Given the description of an element on the screen output the (x, y) to click on. 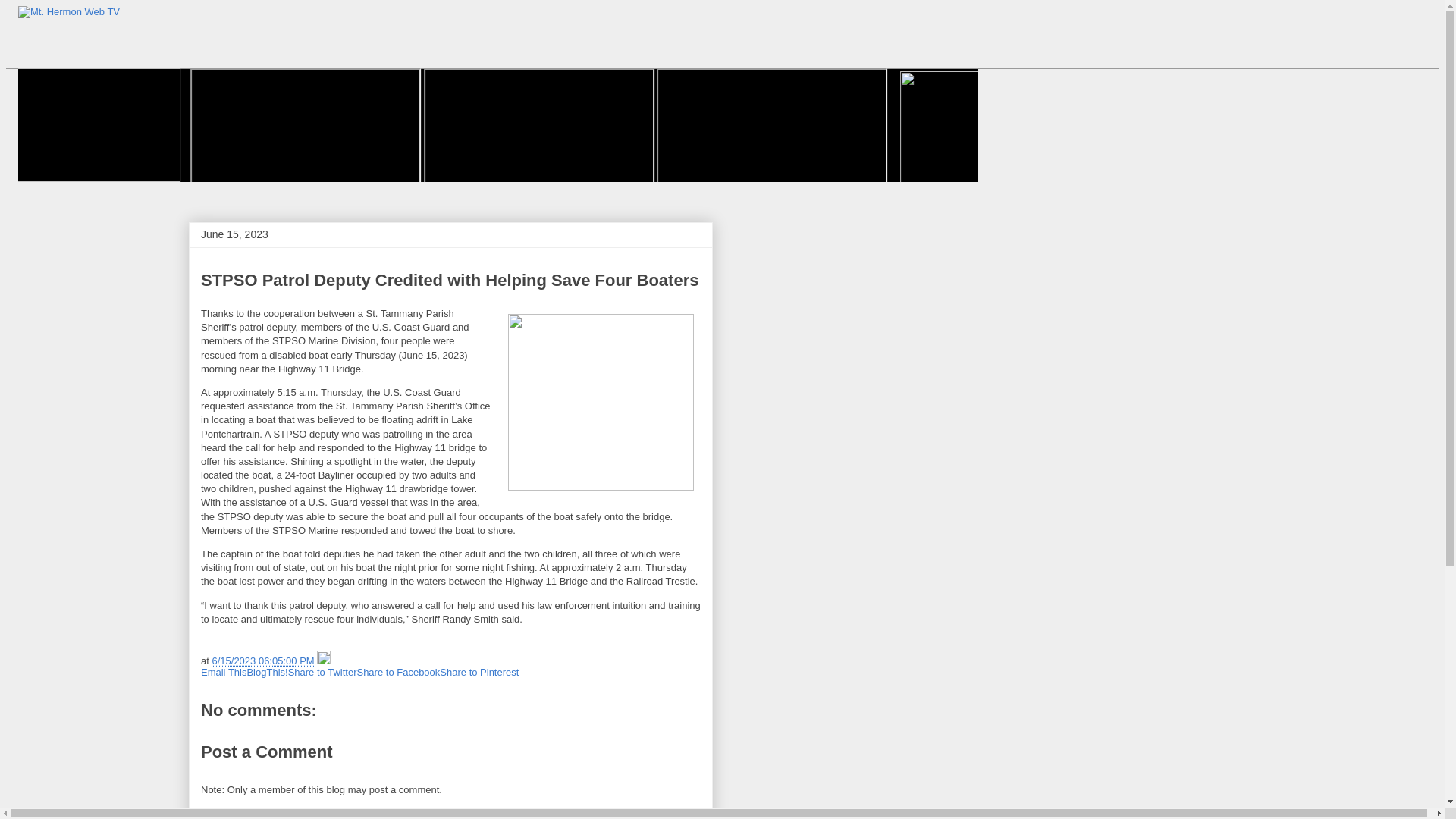
Share to Twitter (322, 672)
Share to Facebook (397, 672)
Email This (223, 672)
Email This (223, 672)
BlogThis! (266, 672)
Share to Pinterest (478, 672)
permanent link (262, 660)
Edit Post (323, 660)
BlogThis! (266, 672)
Share to Facebook (397, 672)
Share to Twitter (322, 672)
Share to Pinterest (478, 672)
